Given the description of an element on the screen output the (x, y) to click on. 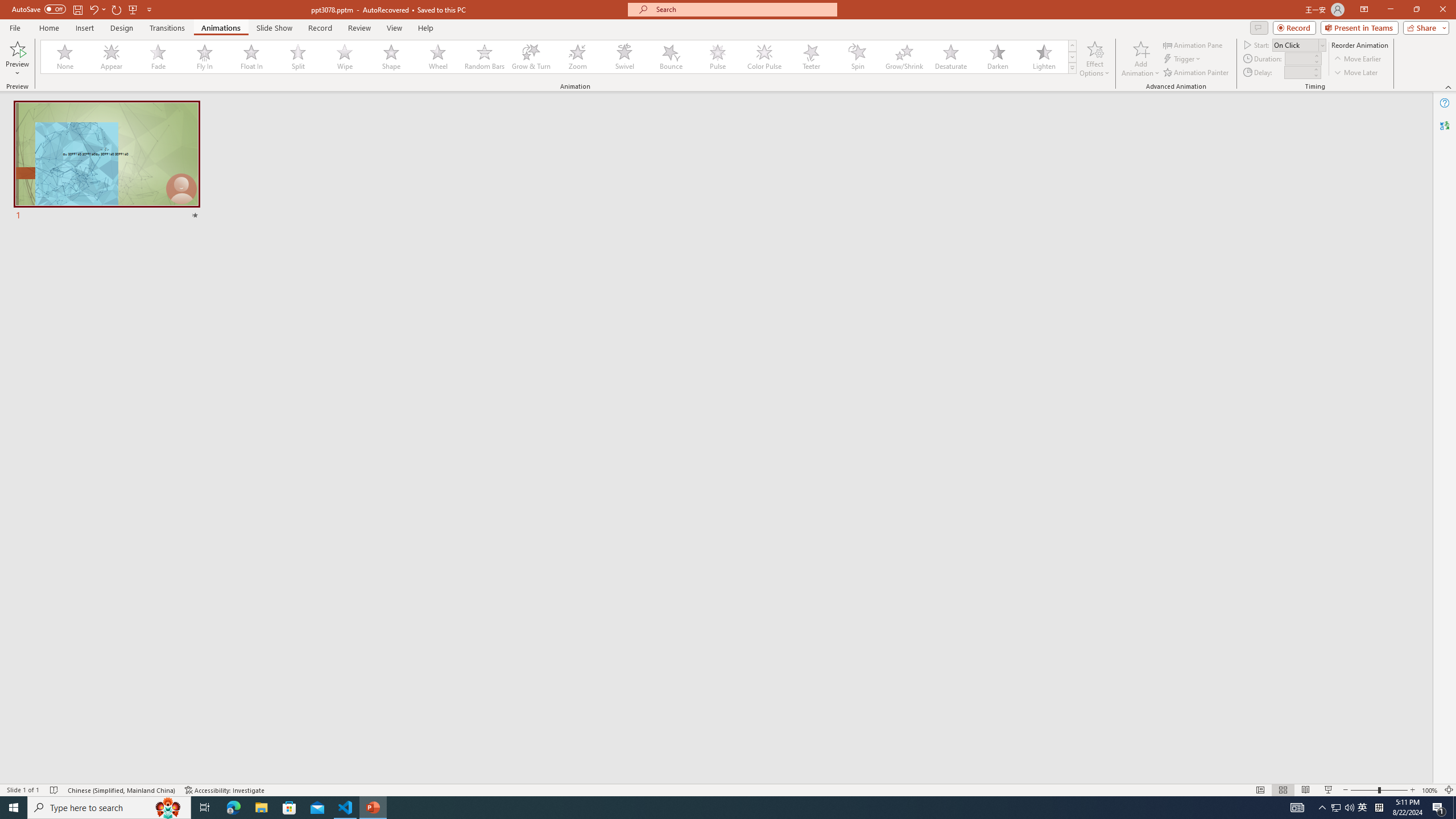
Grow & Turn (531, 56)
Zoom 100% (1430, 790)
Wheel (437, 56)
Darken (997, 56)
